Given the description of an element on the screen output the (x, y) to click on. 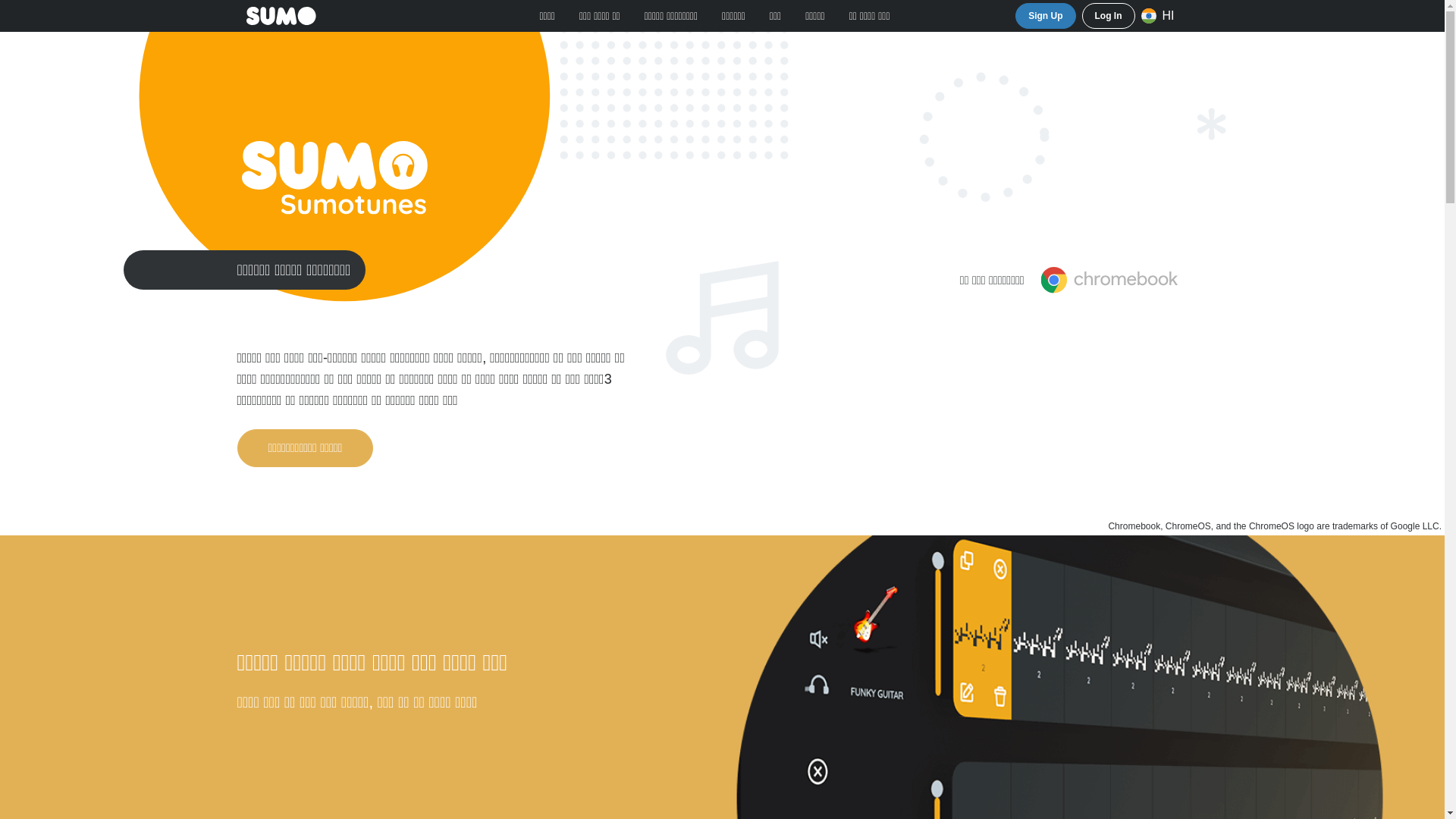
Log In (1107, 15)
edu (775, 15)
Sign Up (1044, 15)
works (599, 15)
api (815, 15)
about (869, 15)
HI (1161, 15)
support (733, 15)
pricing (670, 15)
